Given the description of an element on the screen output the (x, y) to click on. 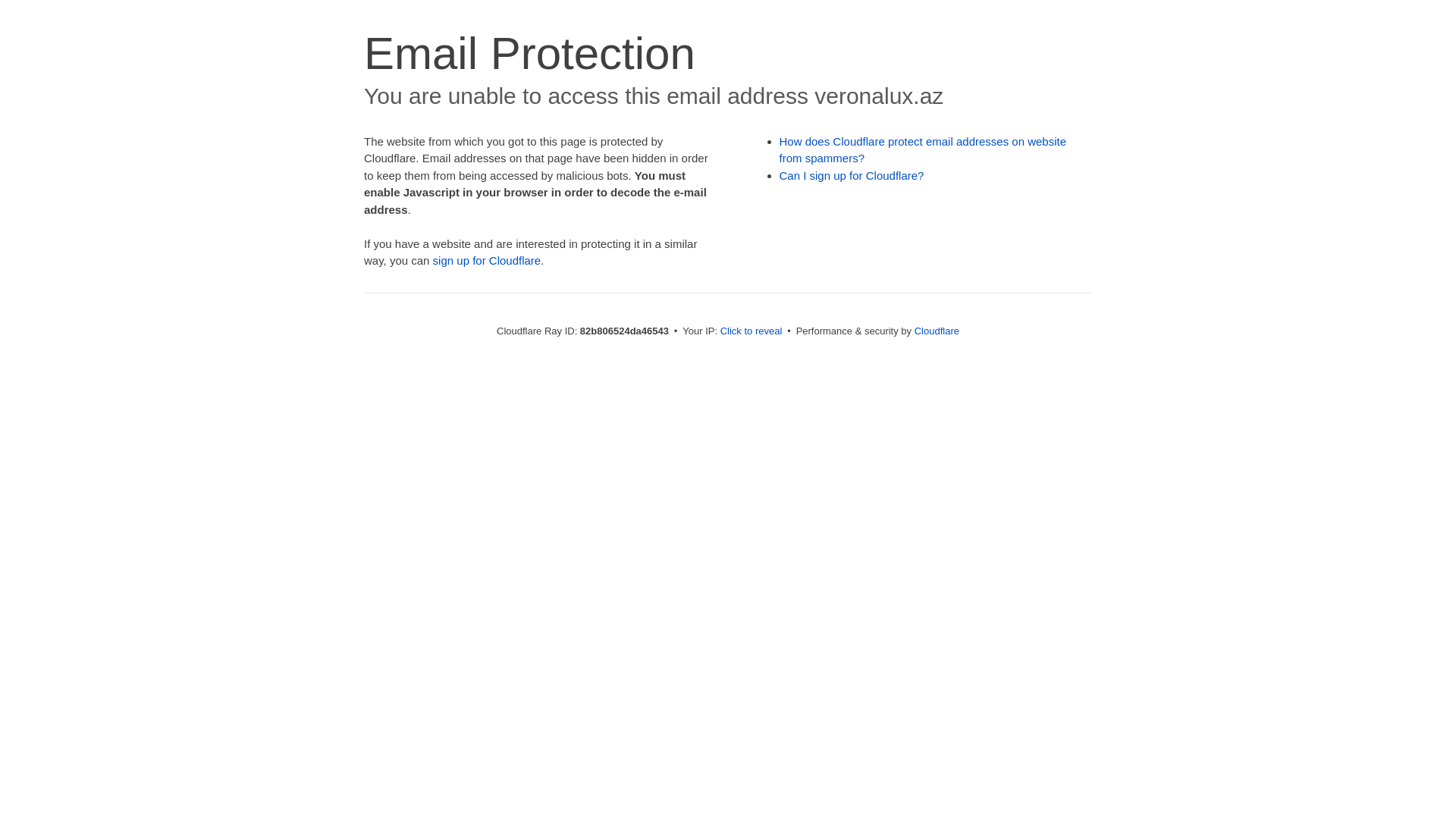
Can I sign up for Cloudflare? Element type: text (851, 175)
Click to reveal Element type: text (751, 330)
sign up for Cloudflare Element type: text (487, 260)
Cloudflare Element type: text (936, 330)
